Given the description of an element on the screen output the (x, y) to click on. 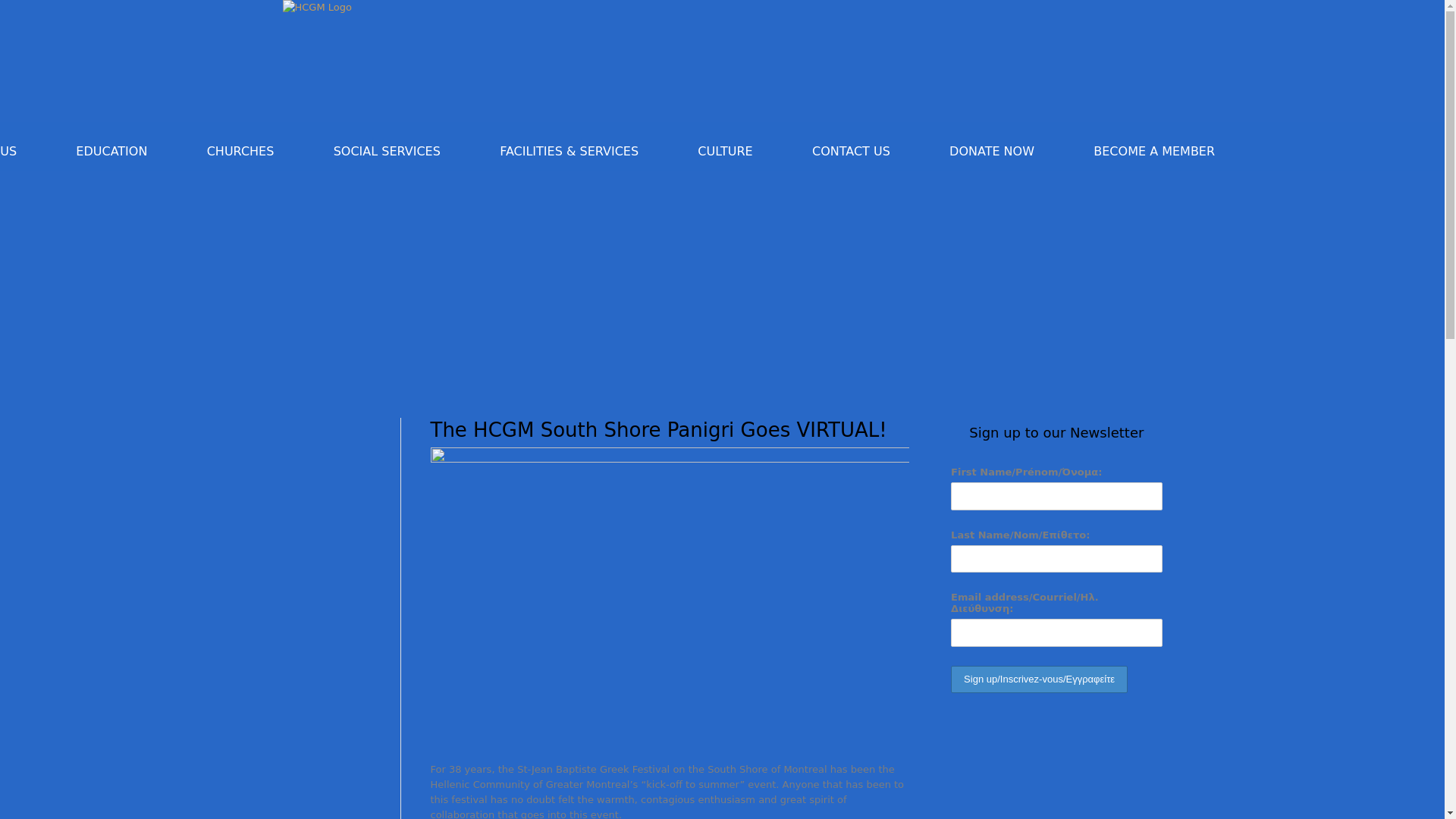
ABOUT US (8, 151)
CHURCHES (240, 151)
EDUCATION (111, 151)
